Given the description of an element on the screen output the (x, y) to click on. 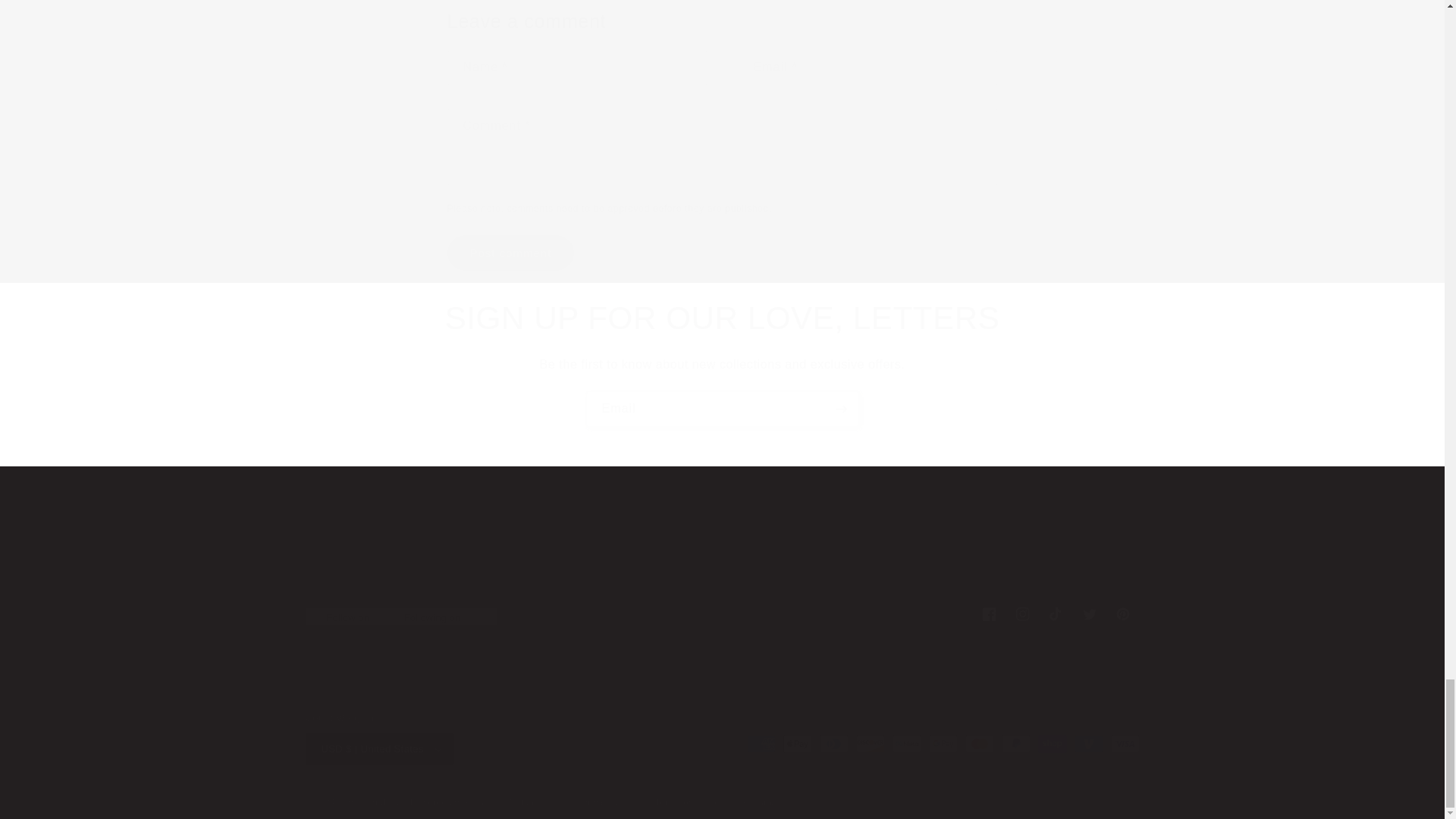
Email (722, 408)
SIGN UP FOR OUR LOVE, LETTERS (721, 318)
Post comment (510, 253)
